Given the description of an element on the screen output the (x, y) to click on. 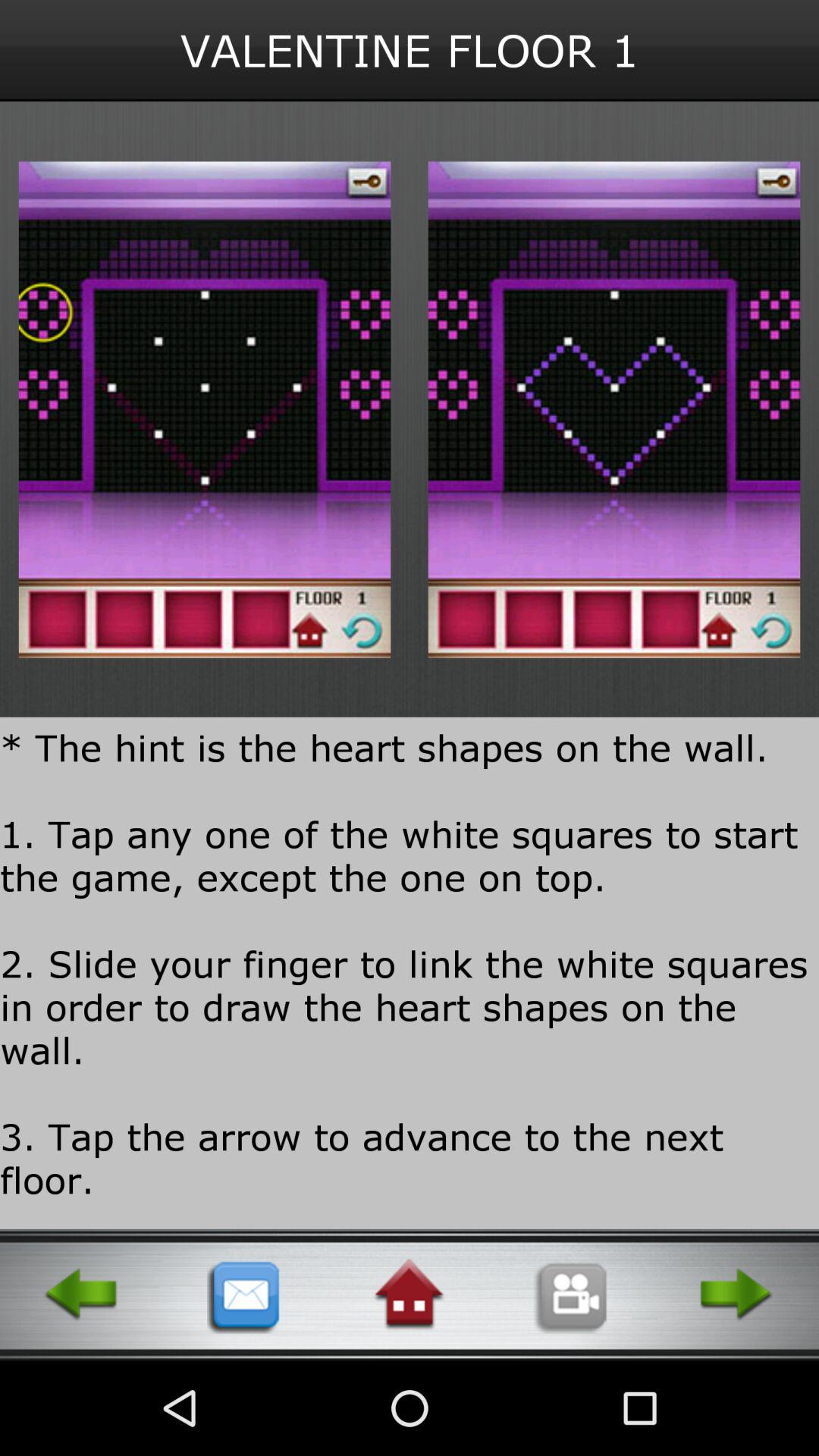
go to home (409, 1294)
